Given the description of an element on the screen output the (x, y) to click on. 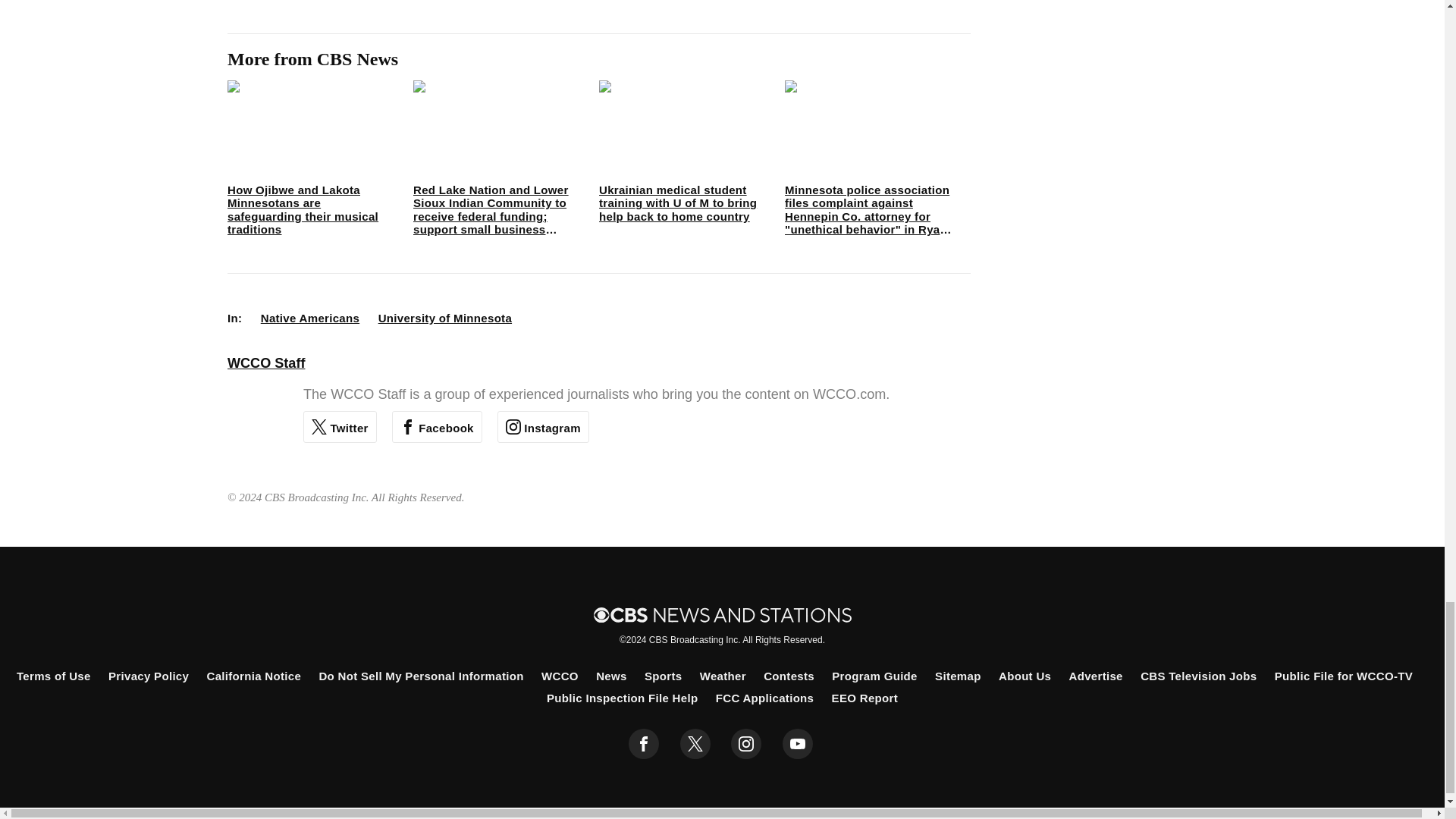
twitter (694, 743)
facebook (643, 743)
instagram (745, 743)
youtube (797, 743)
